Given the description of an element on the screen output the (x, y) to click on. 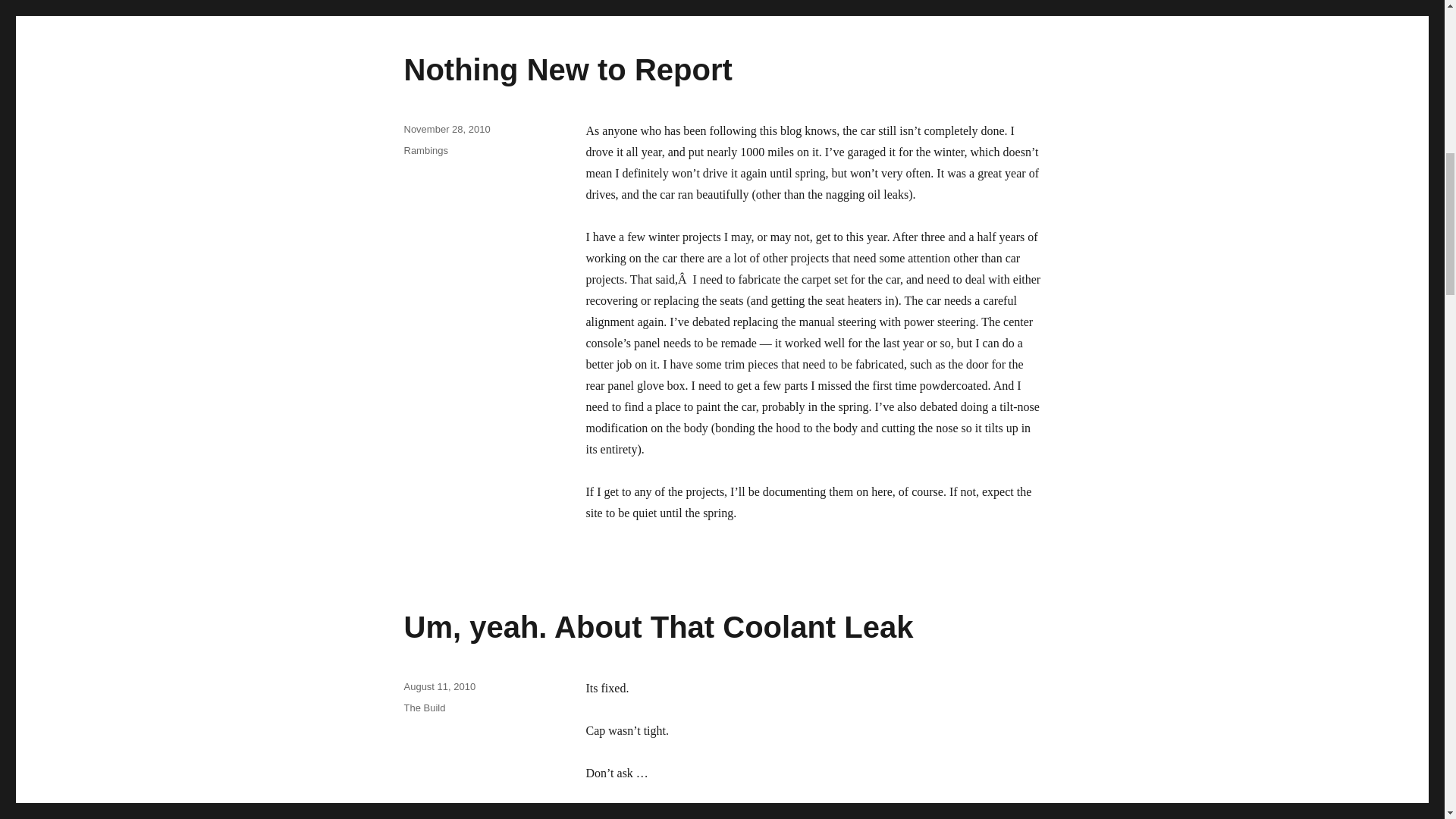
November 28, 2010 (446, 129)
The Build (424, 707)
Nothing New to Report (567, 69)
August 11, 2010 (439, 686)
Um, yeah. About That Coolant Leak (657, 626)
Rambings (425, 150)
